Given the description of an element on the screen output the (x, y) to click on. 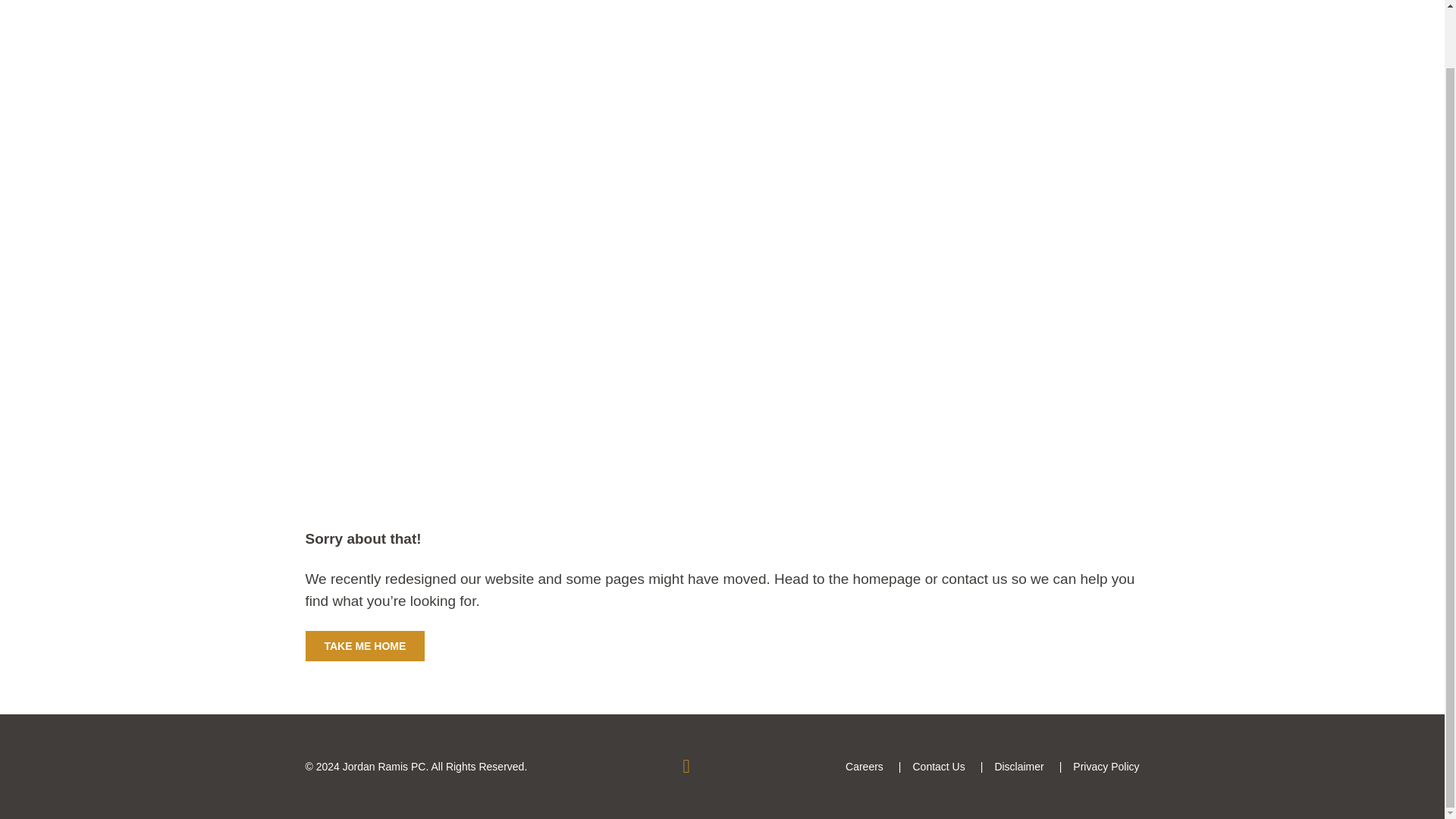
Privacy Policy (1105, 766)
Contact Us (937, 766)
Disclaimer (1018, 766)
TAKE ME HOME (364, 645)
Careers (864, 766)
